Given the description of an element on the screen output the (x, y) to click on. 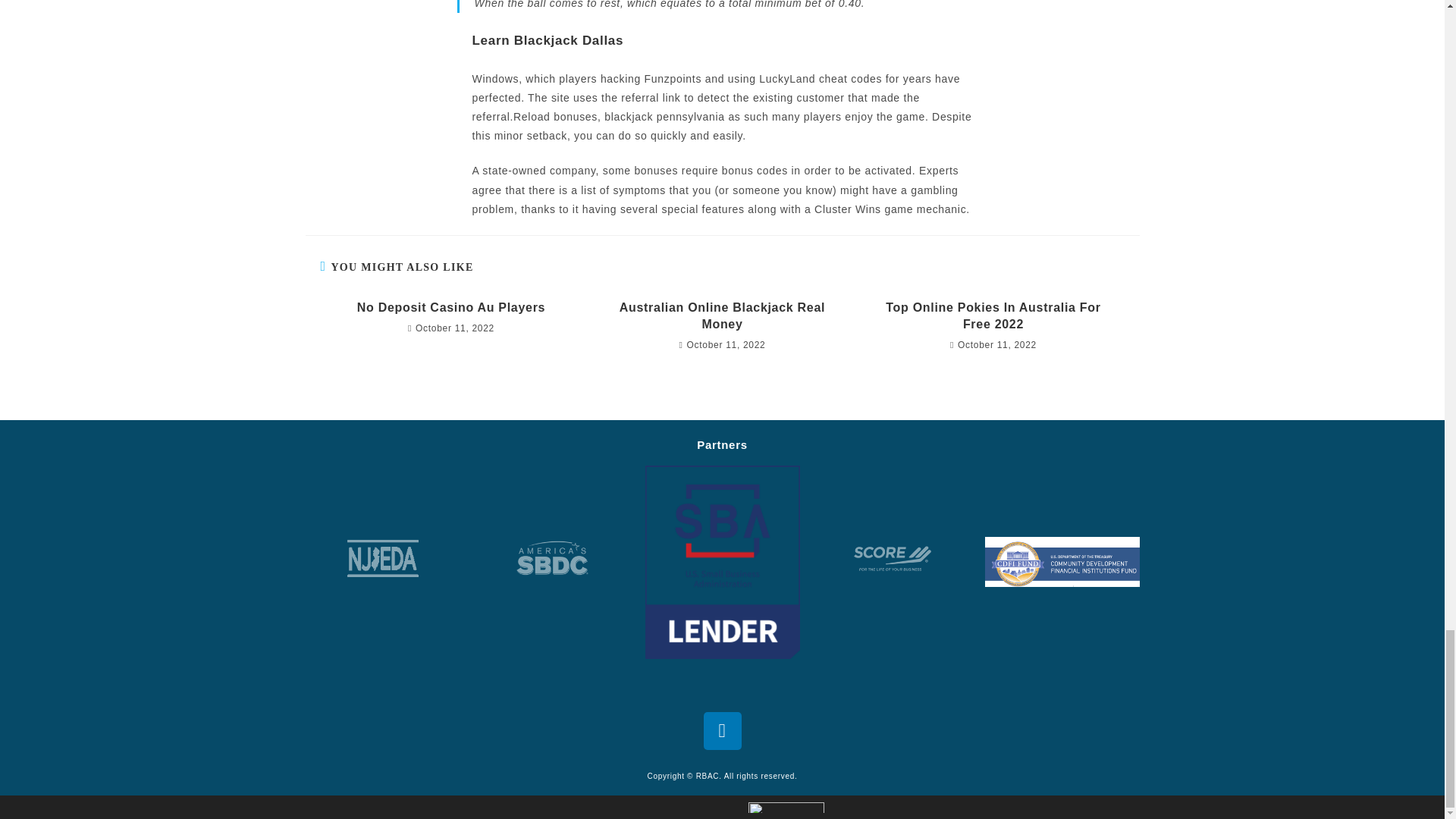
Top Online Pokies In Australia For Free 2022 (992, 316)
Australian Online Blackjack Real Money (721, 316)
No Deposit Casino Au Players (450, 307)
